Given the description of an element on the screen output the (x, y) to click on. 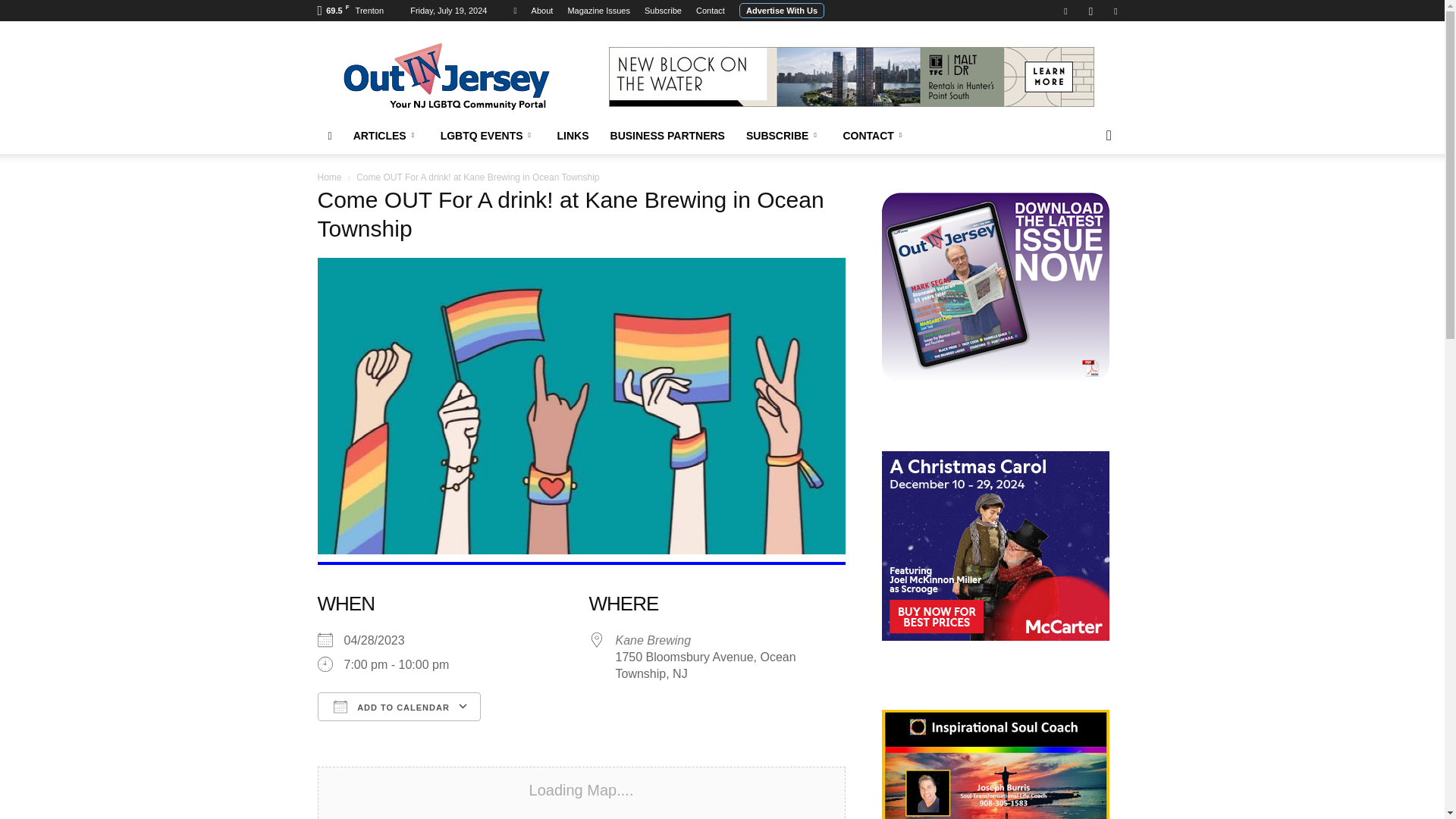
Twitter (1114, 10)
Advertise With Us (781, 10)
Out In Jersey - Your LGBTQ Community Portal for Gay NJ (445, 76)
Contact (710, 10)
Facebook (1065, 10)
Instagram (1090, 10)
Subscribe (663, 10)
About (542, 10)
Magazine Issues (598, 10)
